Given the description of an element on the screen output the (x, y) to click on. 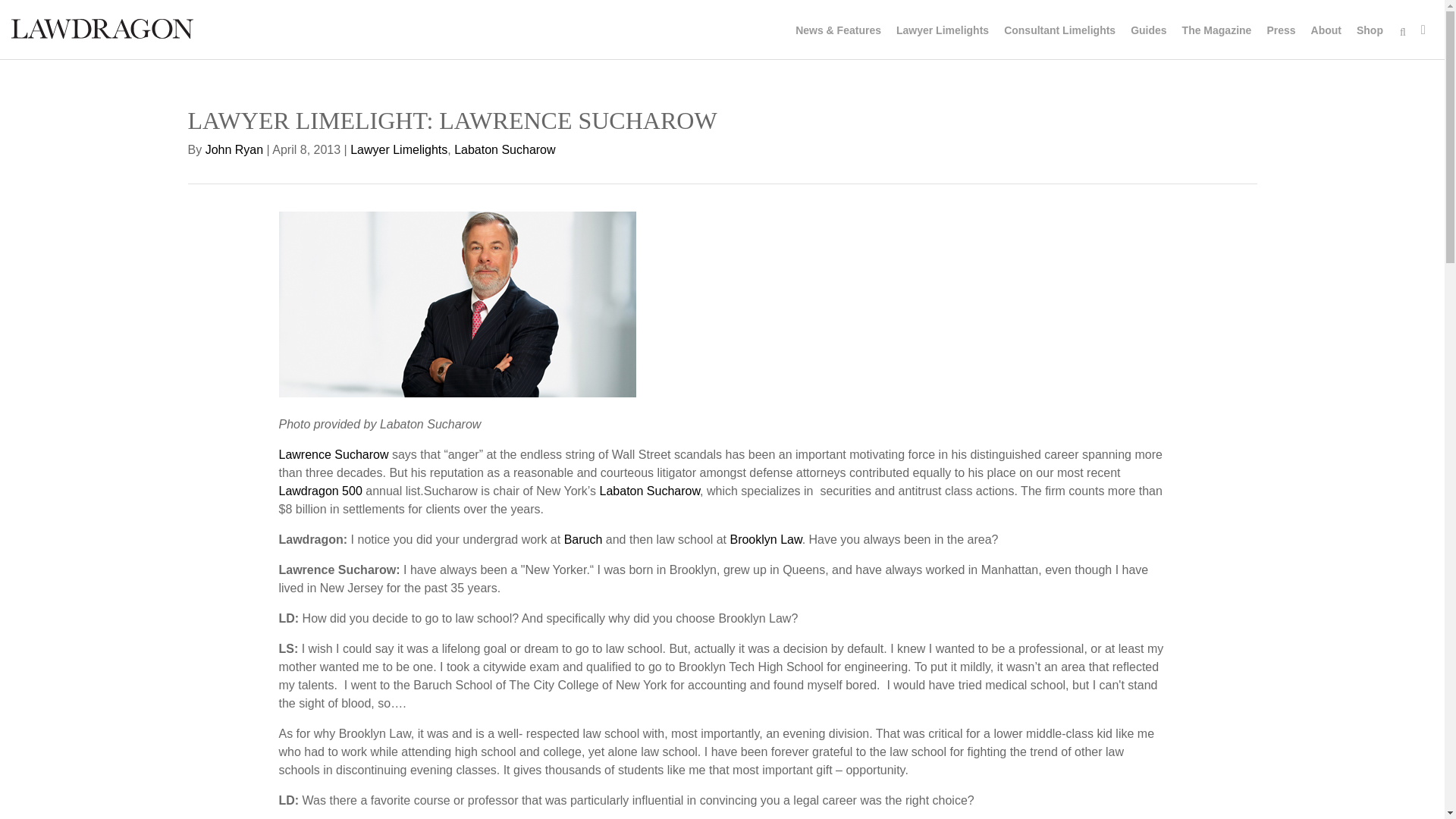
Press (1281, 30)
Lawyer Limelights (398, 149)
Brooklyn Law (765, 539)
About (1326, 30)
Lawdragon 500 (320, 490)
Lawrence Sucharow (333, 454)
Consultant Limelights (1058, 30)
Labaton Sucharow (649, 490)
Labaton Sucharow (504, 149)
The Magazine (1216, 30)
